Given the description of an element on the screen output the (x, y) to click on. 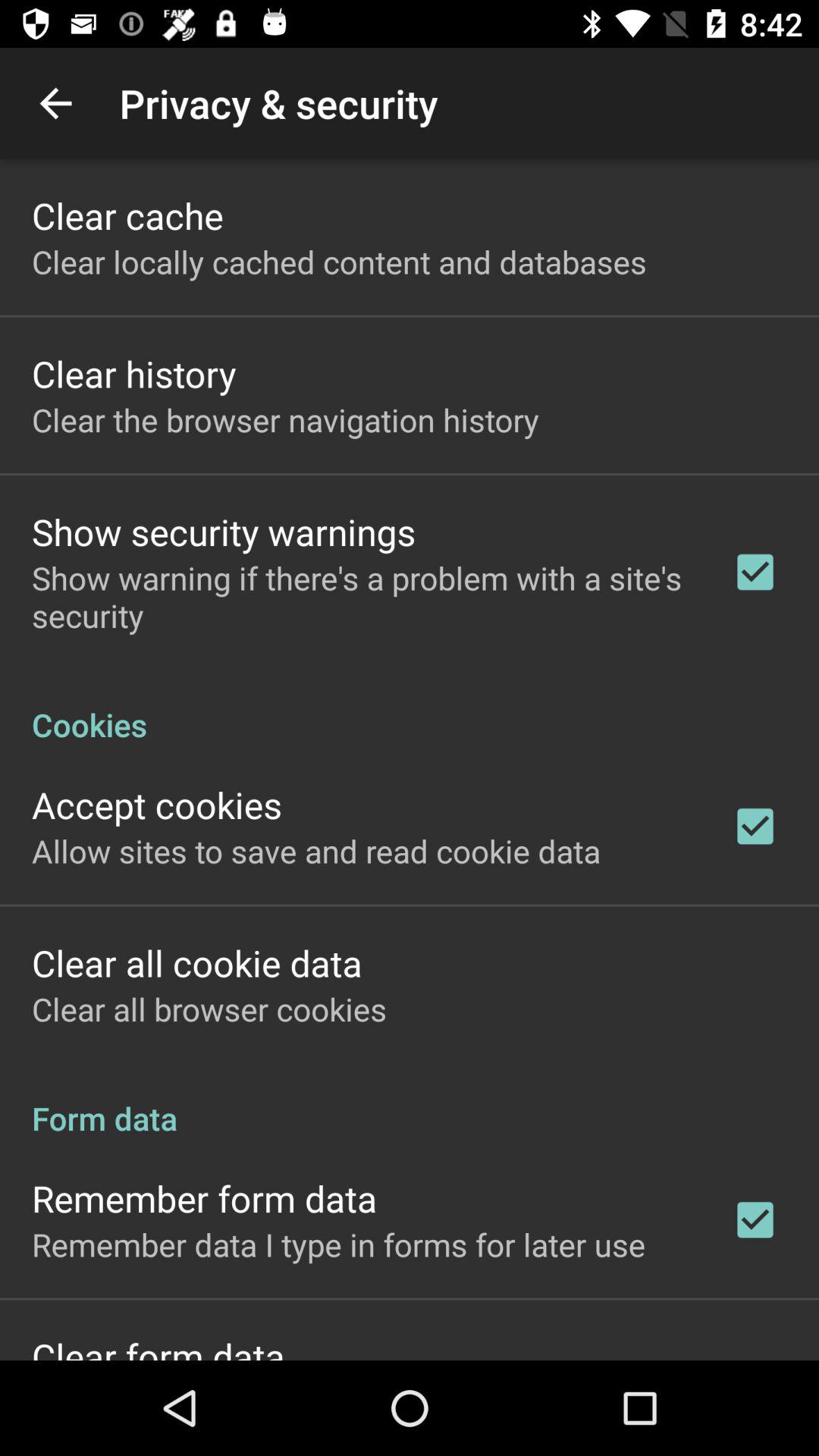
press the clear cache (127, 215)
